Given the description of an element on the screen output the (x, y) to click on. 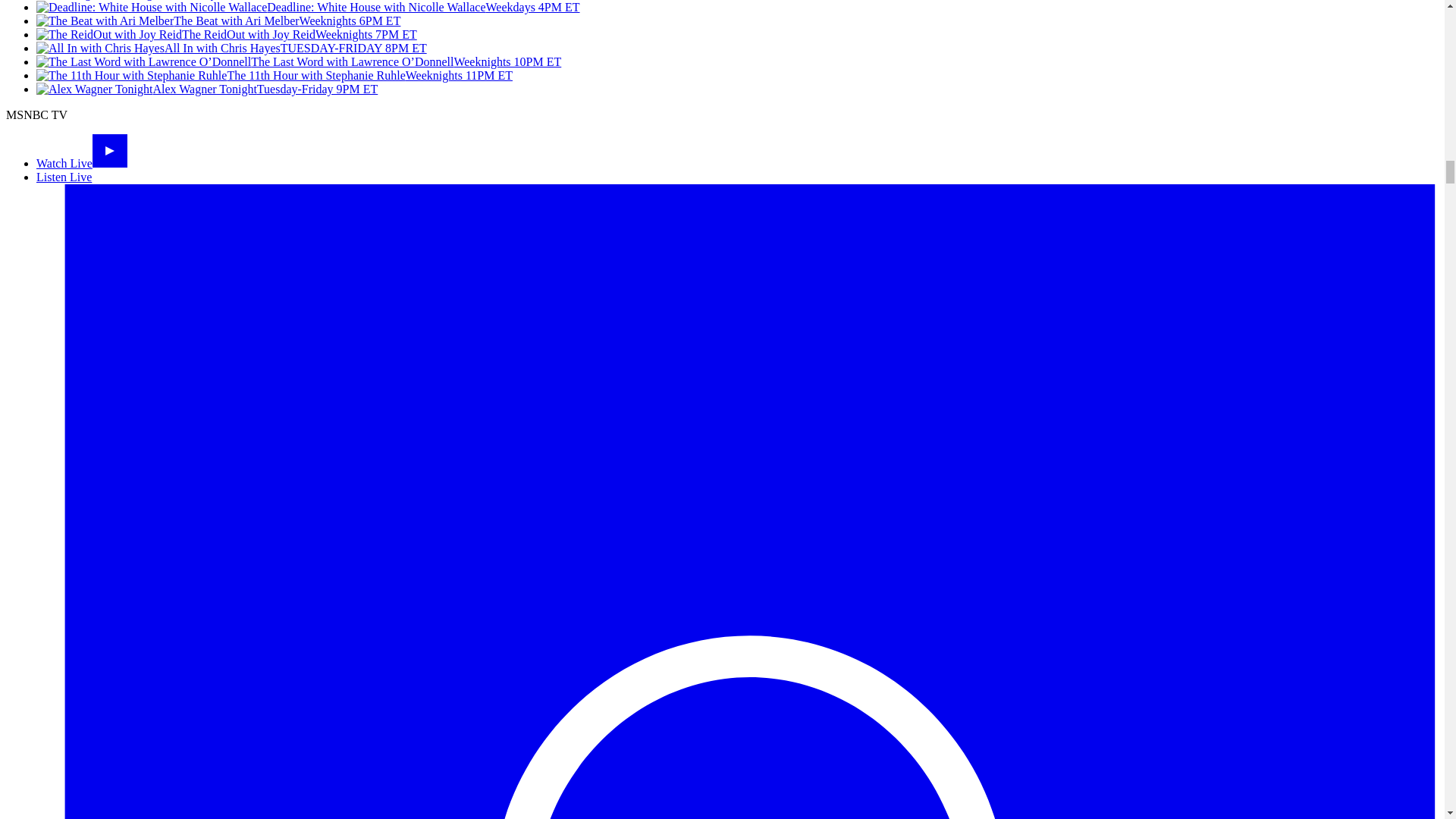
Deadline: White House with Nicolle WallaceWeekdays 4PM ET (307, 6)
Watch Live (82, 163)
Alex Wagner TonightTuesday-Friday 9PM ET (206, 88)
All In with Chris HayesTUESDAY-FRIDAY 8PM ET (231, 47)
The Beat with Ari MelberWeeknights 6PM ET (218, 20)
The 11th Hour with Stephanie RuhleWeeknights 11PM ET (274, 74)
The ReidOut with Joy ReidWeeknights 7PM ET (226, 33)
